Given the description of an element on the screen output the (x, y) to click on. 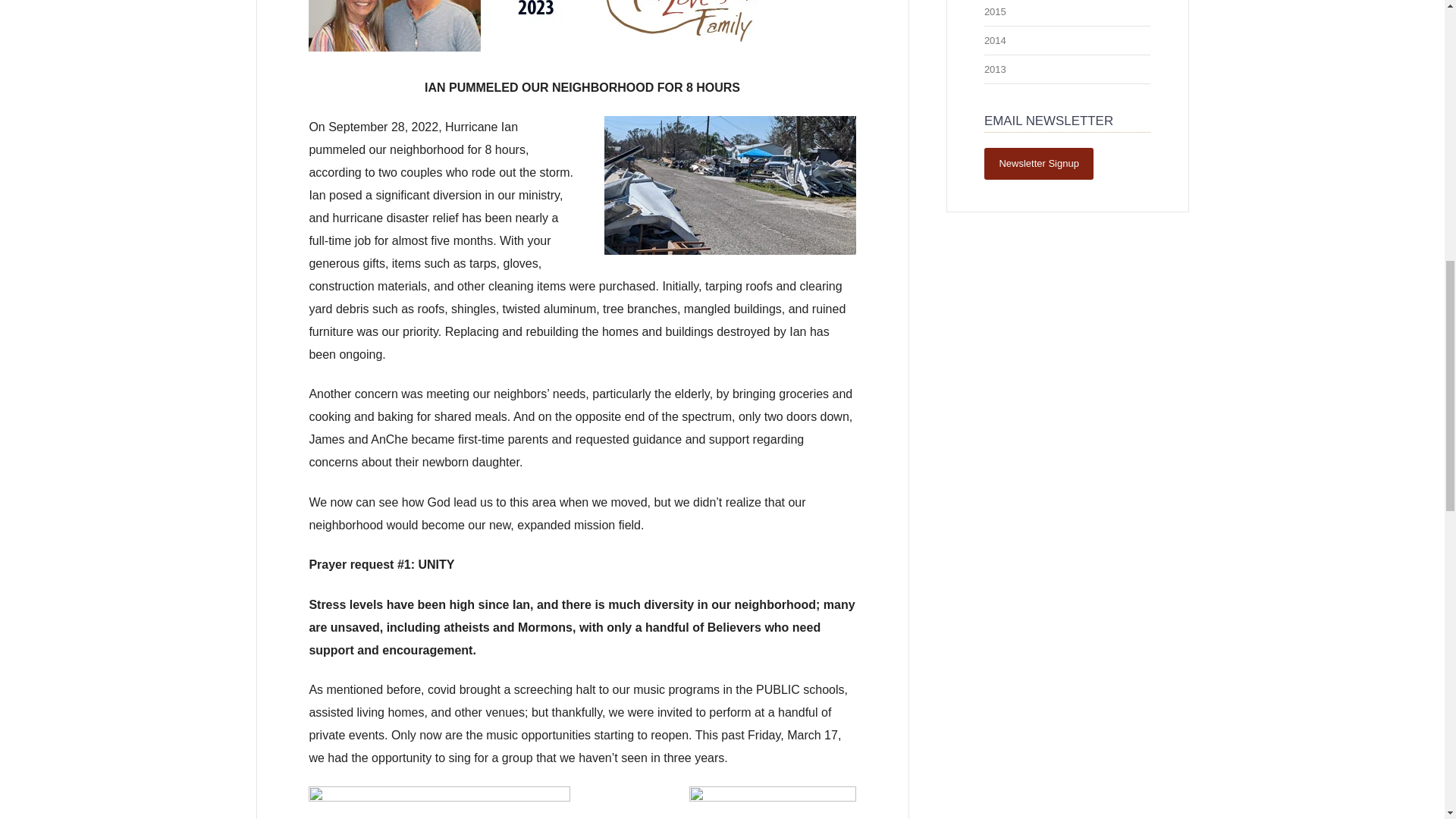
2014 (995, 40)
Newsletter Signup (1039, 163)
2013 (995, 69)
2015 (995, 11)
